Given the description of an element on the screen output the (x, y) to click on. 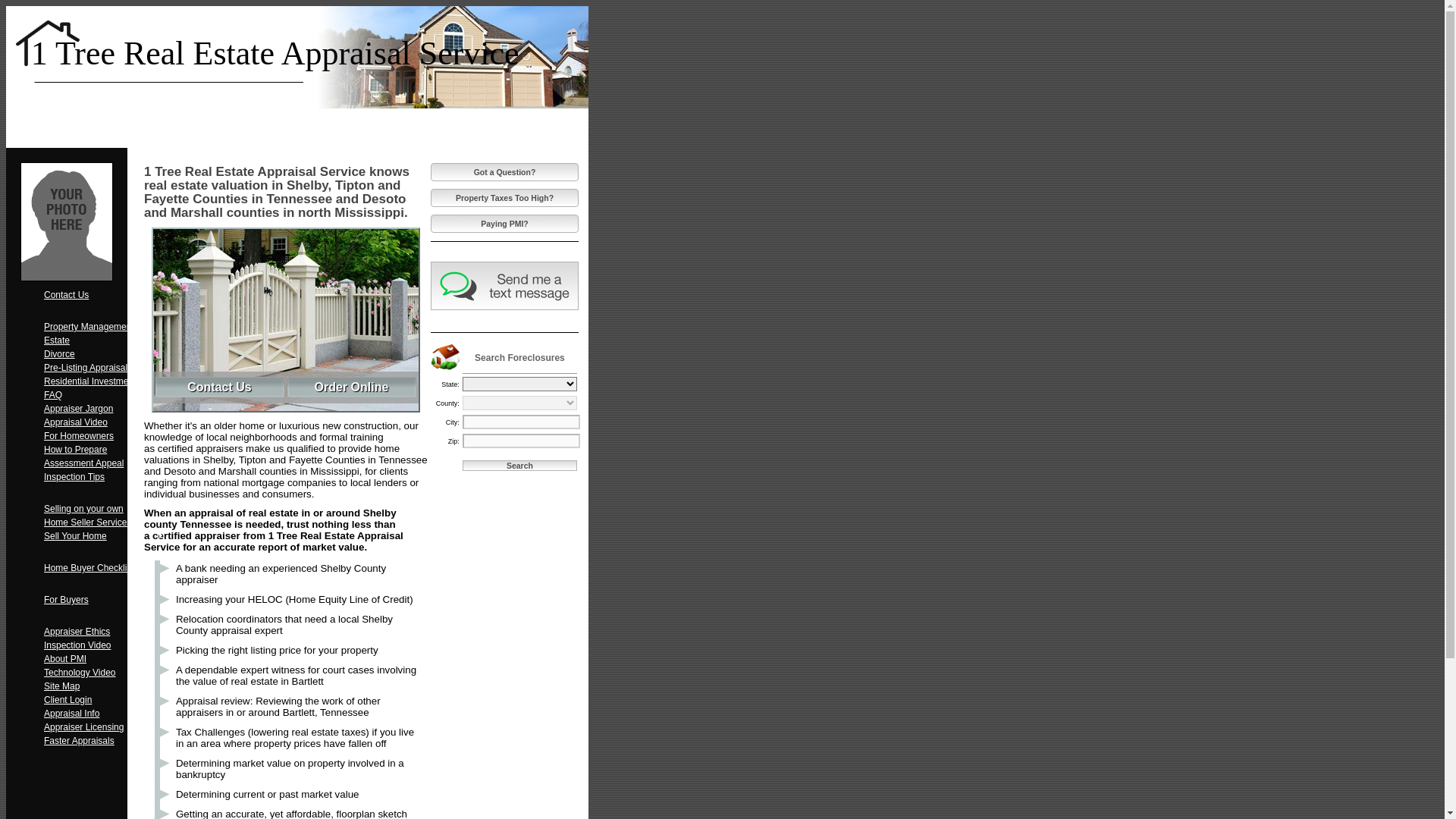
Home Seller Services Element type: text (104, 522)
About PMI Element type: text (104, 658)
Appraiser Licensing Element type: text (104, 727)
Faster Appraisals Element type: text (104, 740)
Relocation Appraisal Element type: text (84, 132)
Sell Your Home Element type: text (104, 535)
Our Service Area Element type: text (377, 112)
Property Taxes Too High? Element type: text (504, 197)
Pre-Listing Appraisals Element type: text (104, 367)
Got a Question? Element type: text (504, 172)
For Buyers Element type: text (104, 599)
FAQ Element type: text (104, 394)
Residential Investment Element type: text (104, 381)
Selling on your own Element type: text (104, 508)
How to Prepare Element type: text (104, 449)
Estate Element type: text (104, 340)
Assessment Appeal Element type: text (104, 463)
Appraiser Jargon Element type: text (104, 408)
Inspection Video Element type: text (104, 645)
Client Login Element type: text (104, 699)
Contact Us Element type: text (219, 386)
Home Buyer Checklist Element type: text (104, 567)
Property Management Element type: text (104, 326)
Order Online Element type: text (351, 386)
Site Map Element type: text (104, 686)
Appraiser Ethics Element type: text (104, 631)
Home Element type: text (84, 112)
Order an Appraisal Element type: text (182, 112)
Divorce Element type: text (104, 353)
1 Tree Real Estate Appraisal Service Element type: text (275, 53)
Services Element type: text (280, 112)
Appraisal Info Element type: text (104, 713)
Technology Video Element type: text (104, 672)
Inspection Tips Element type: text (104, 476)
FHA Approved Element type: text (475, 112)
For Homeowners Element type: text (104, 435)
Contact Us Element type: text (104, 294)
Paying PMI? Element type: text (504, 223)
Appraisal Video Element type: text (104, 422)
